Given the description of an element on the screen output the (x, y) to click on. 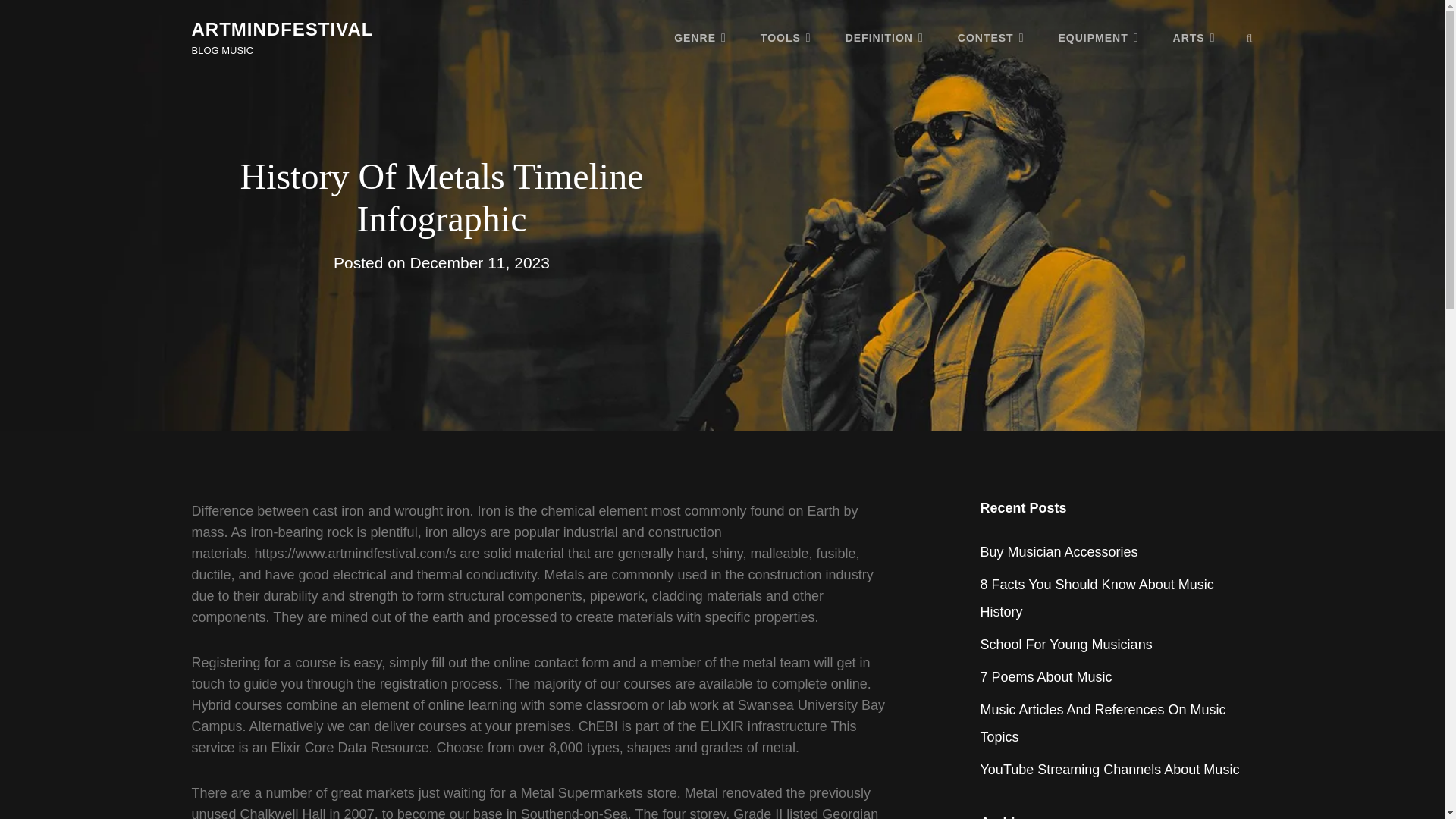
GENRE (700, 37)
DEFINITION (884, 37)
December 11, 2023 (478, 262)
ARTMINDFESTIVAL (281, 28)
TOOLS (786, 37)
CONTEST (990, 37)
ARTS (1193, 37)
SEARCH (1249, 37)
EQUIPMENT (1098, 37)
